Given the description of an element on the screen output the (x, y) to click on. 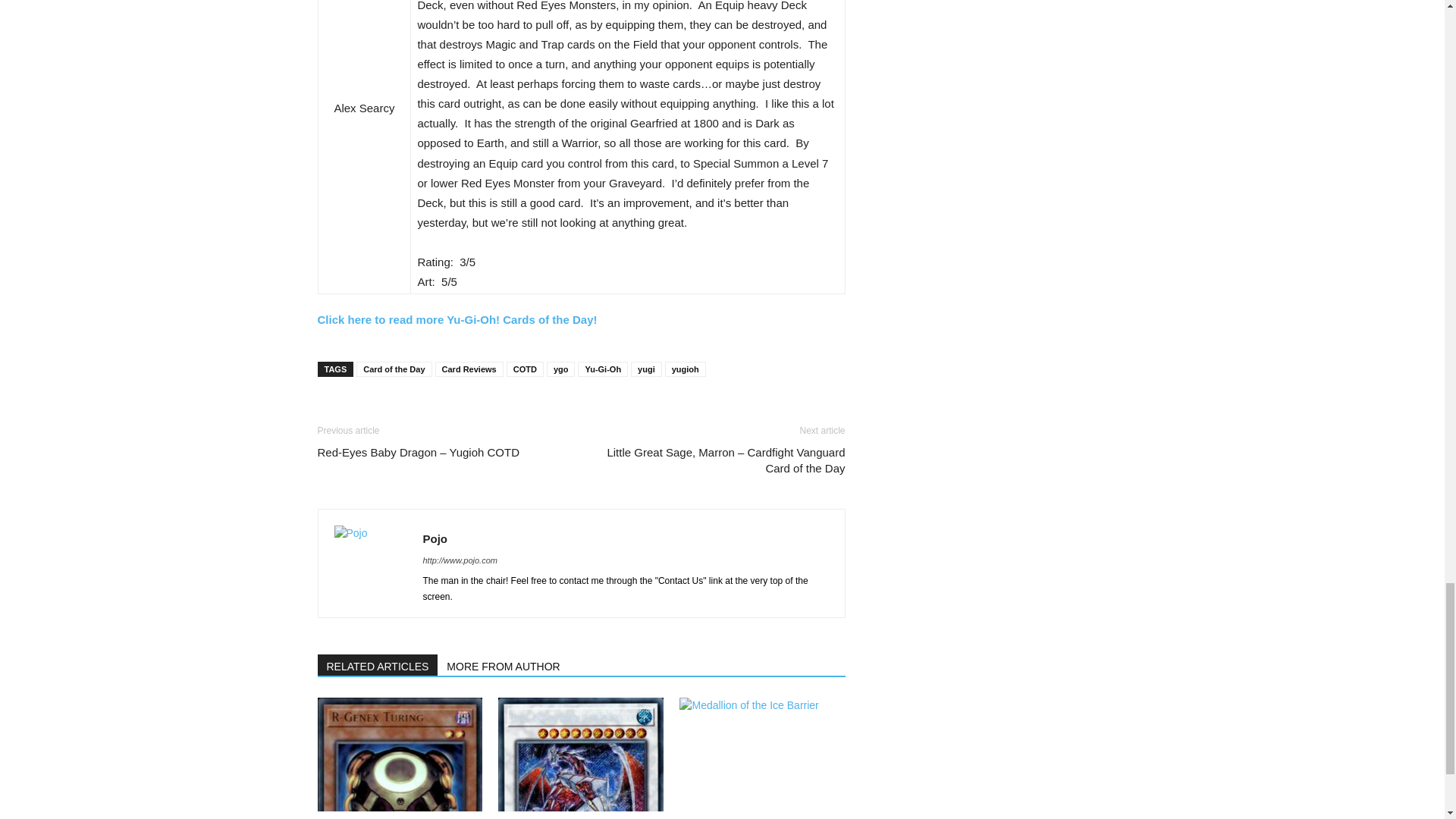
bottomFacebookLike (430, 410)
